Given the description of an element on the screen output the (x, y) to click on. 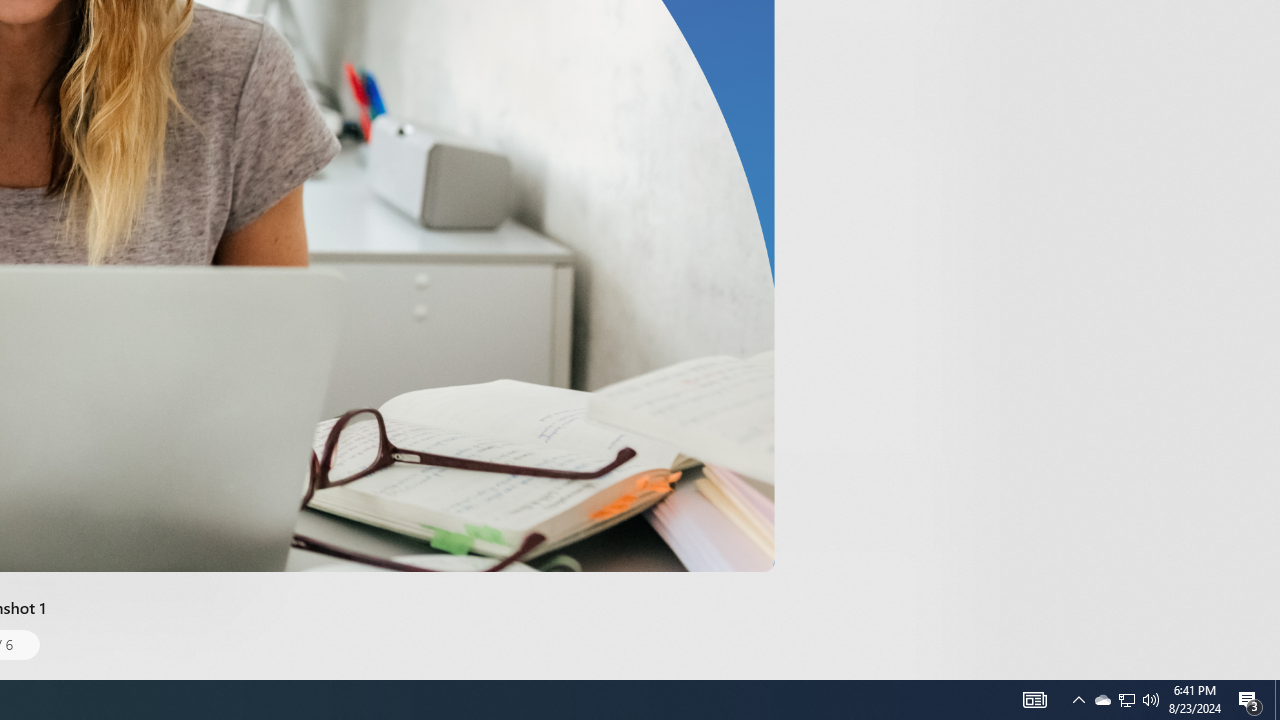
Show all ratings and reviews (924, 97)
